Given the description of an element on the screen output the (x, y) to click on. 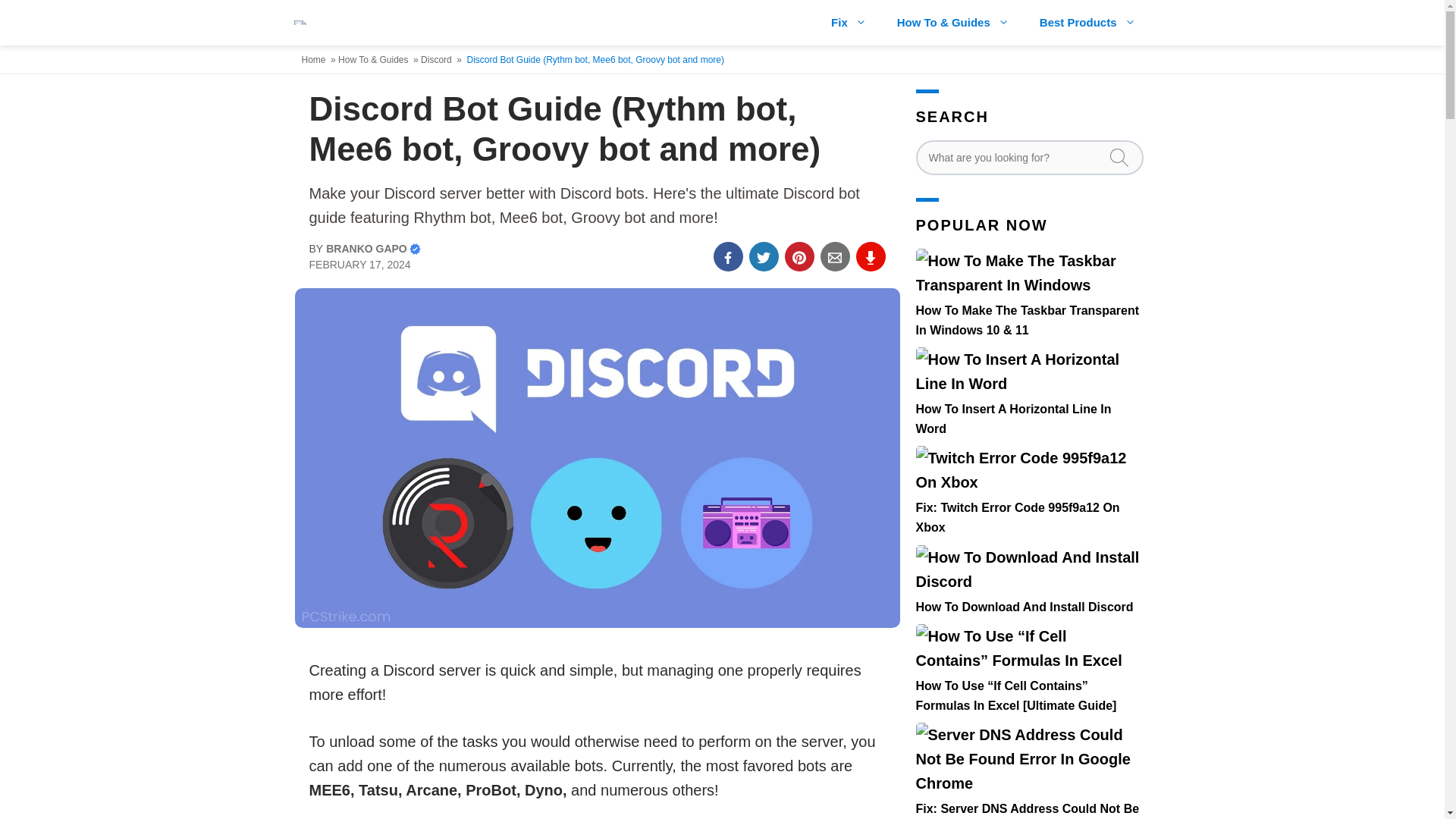
Search for: (1028, 157)
Home (315, 59)
Download PDF (870, 256)
Discord (437, 59)
Fix (848, 22)
PC Strike (306, 22)
Best Products (1088, 22)
